Given the description of an element on the screen output the (x, y) to click on. 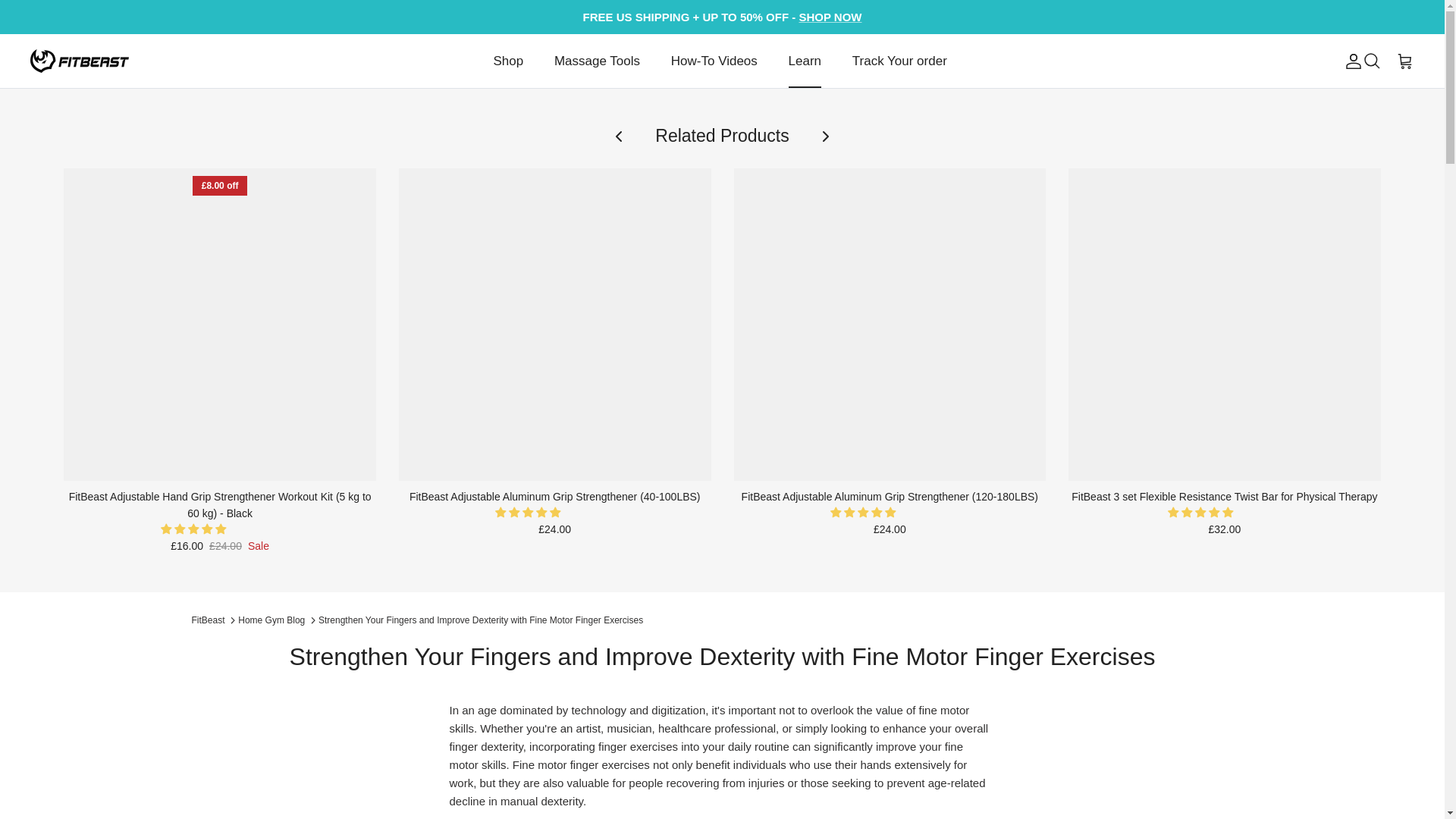
How-To Videos (714, 61)
Search (1371, 61)
FitBeast (79, 60)
The Biggest Discount  of The Year (829, 16)
Shop (508, 61)
Massage Tools (596, 61)
SHOP NOW (829, 16)
Learn (804, 61)
Track Your order (899, 61)
